Given the description of an element on the screen output the (x, y) to click on. 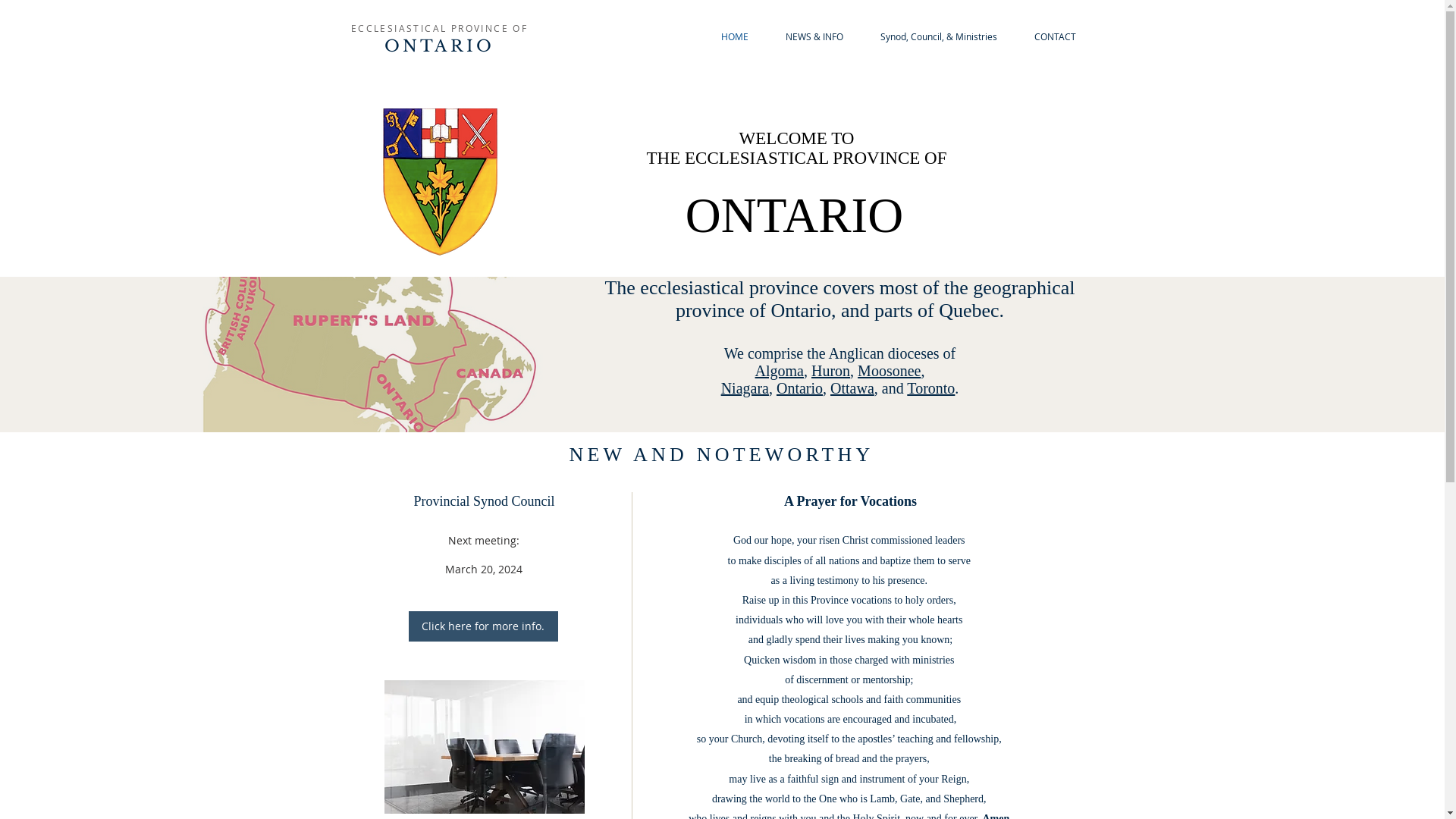
NEWS & INFO Element type: text (814, 36)
Ottawa Element type: text (852, 387)
Huron Element type: text (830, 370)
CONTACT Element type: text (1055, 36)
Moosonee Element type: text (888, 370)
Click here for more info. Element type: text (482, 626)
ONTARIO Element type: text (439, 46)
Synod, Council, & Ministries Element type: text (938, 36)
HOME Element type: text (734, 36)
Toronto Element type: text (930, 387)
Niagara Element type: text (744, 387)
Algoma Element type: text (779, 370)
Ontario Element type: text (799, 387)
